Given the description of an element on the screen output the (x, y) to click on. 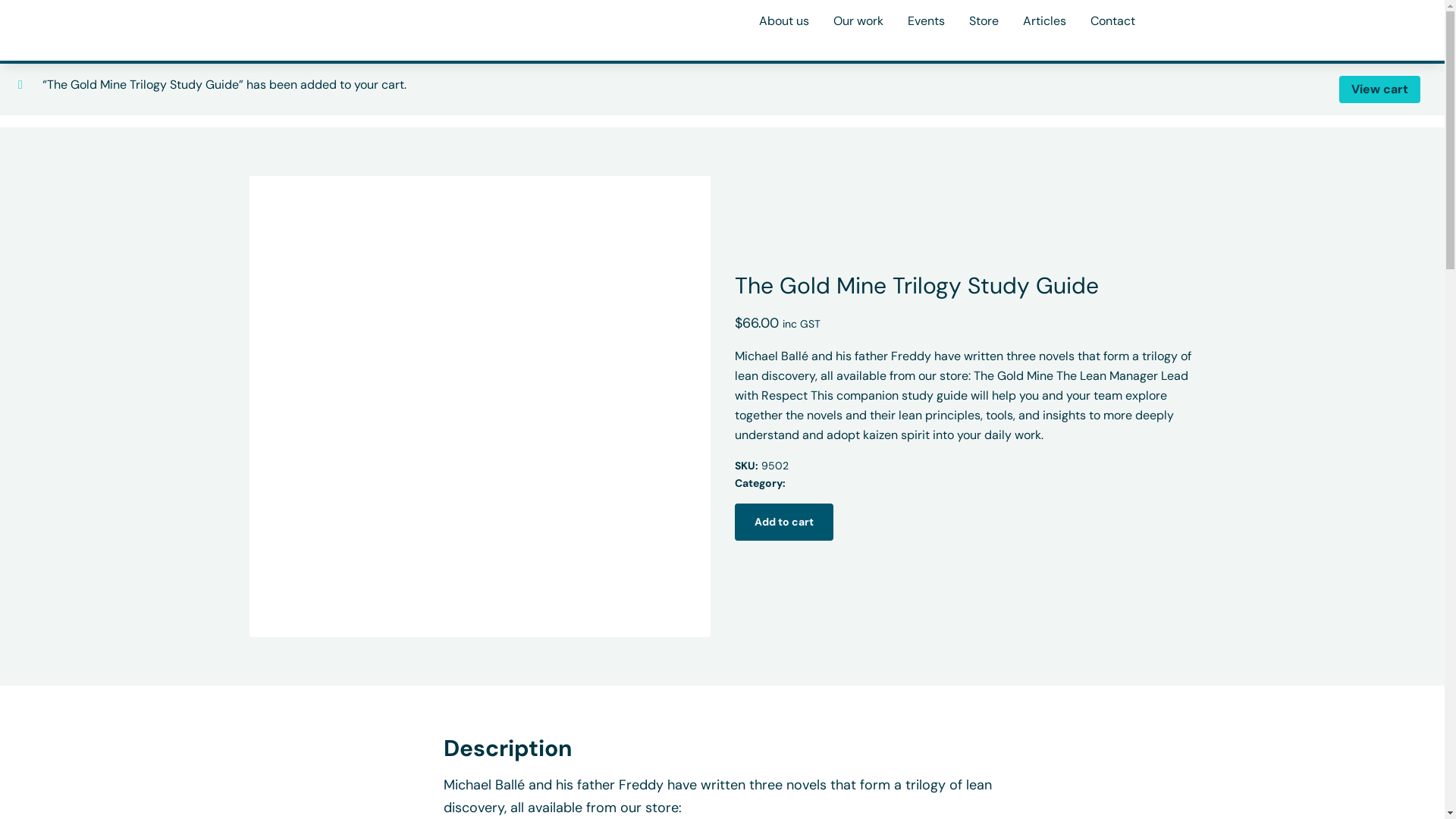
Contact Element type: text (1112, 21)
Our work Element type: text (857, 21)
Articles Element type: text (1043, 21)
Store Element type: text (983, 21)
Add to cart Element type: text (783, 521)
About us Element type: text (783, 21)
View cart Element type: text (1379, 89)
Events Element type: text (925, 21)
